Given the description of an element on the screen output the (x, y) to click on. 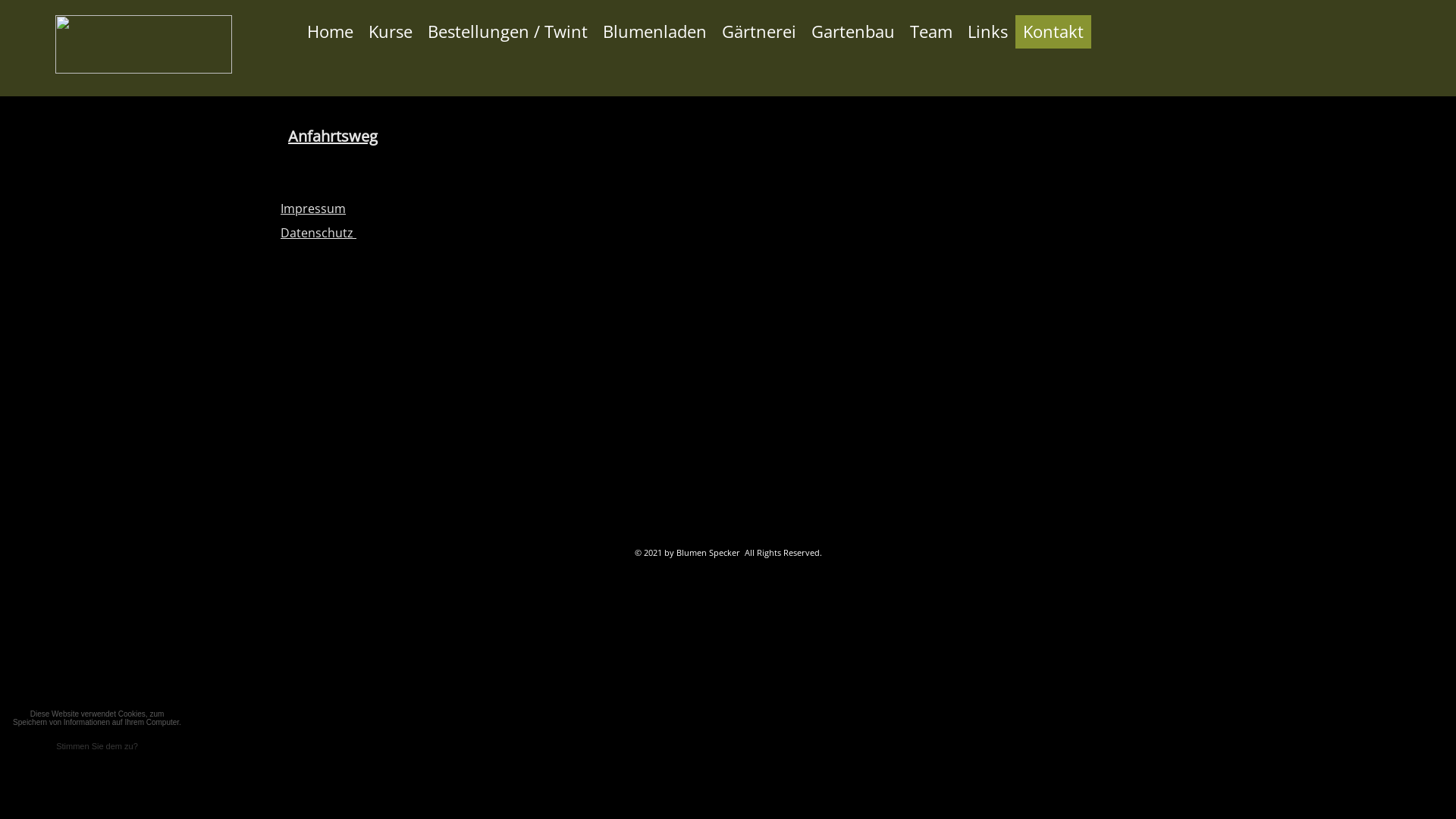
Datenschutz  Element type: text (318, 232)
Gartenbau Element type: text (852, 31)
Links Element type: text (987, 31)
Blumenladen Element type: text (654, 31)
Nein danke, weiter zu Google Element type: hover (114, 774)
Anfahrtsweg Element type: text (332, 135)
Home Element type: text (329, 31)
Kontakt Element type: text (1053, 31)
Impressum Element type: text (312, 208)
Kurse Element type: text (390, 31)
Bestellungen / Twint Element type: text (507, 31)
Team Element type: text (931, 31)
Ja, ich stimme zu Element type: hover (79, 774)
